Given the description of an element on the screen output the (x, y) to click on. 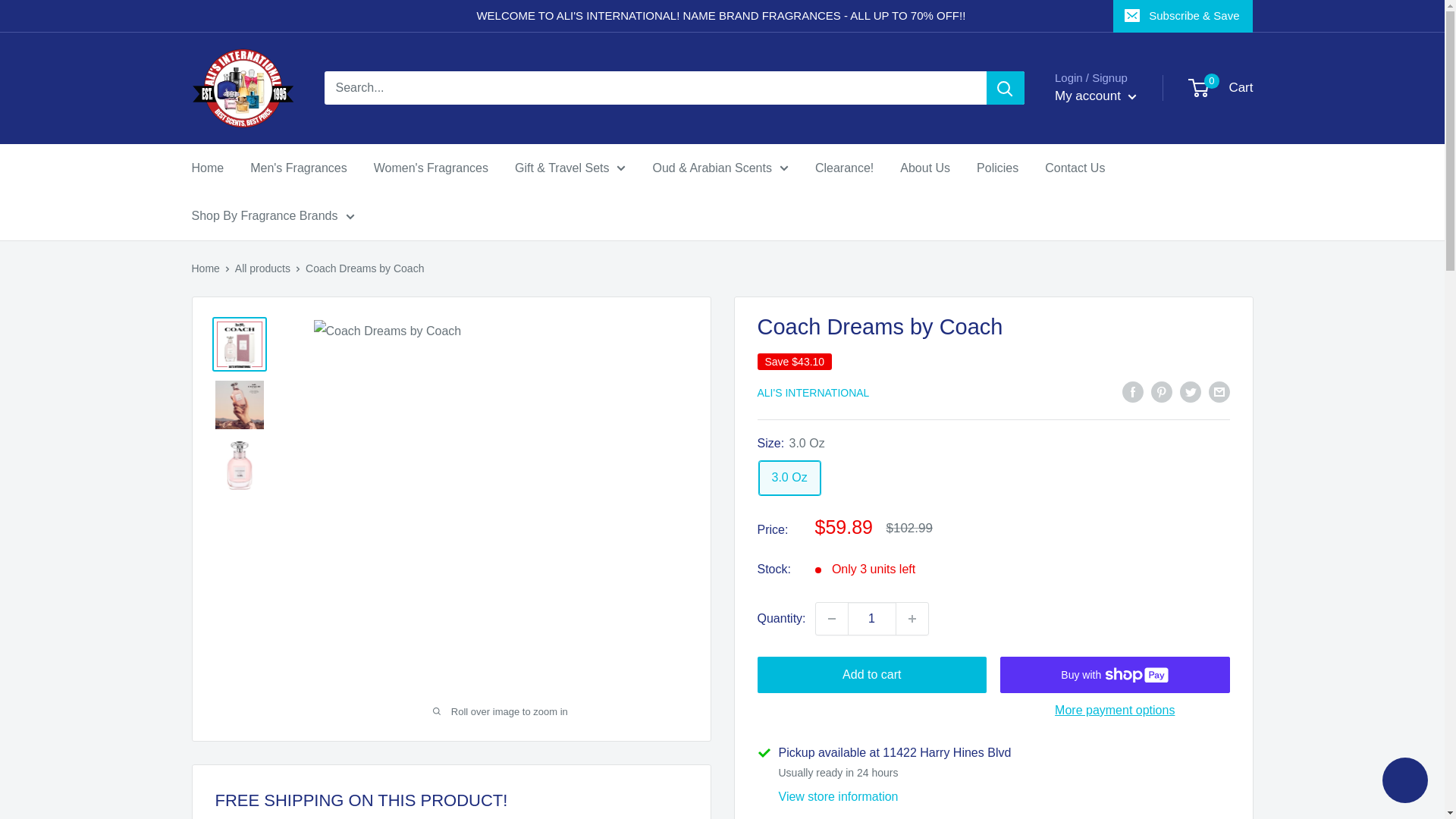
Increase quantity by 1 (912, 618)
3.0 Oz (788, 478)
Shopify online store chat (1404, 781)
1 (871, 618)
Decrease quantity by 1 (831, 618)
